Given the description of an element on the screen output the (x, y) to click on. 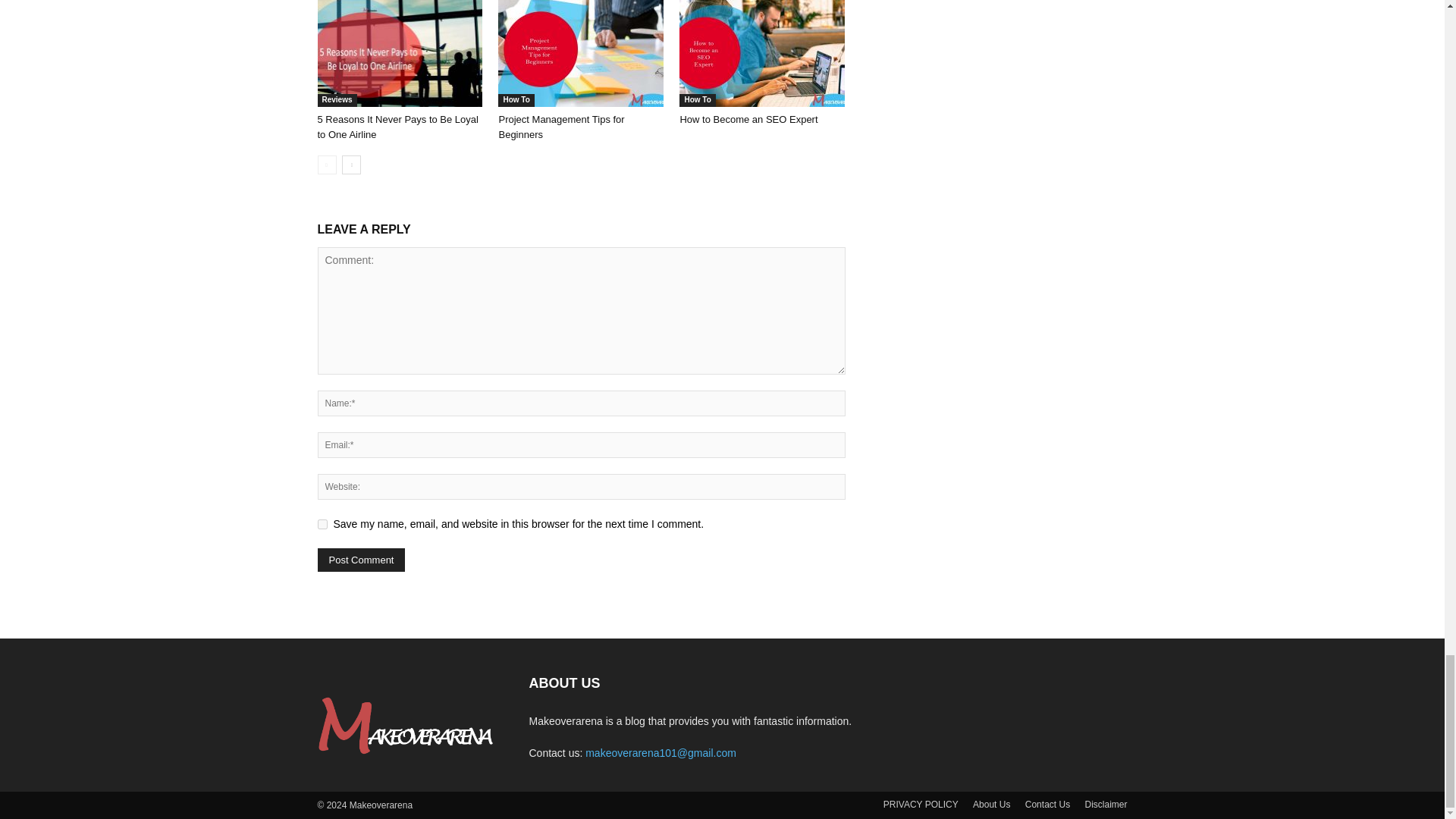
Post Comment (360, 559)
yes (321, 524)
